Given the description of an element on the screen output the (x, y) to click on. 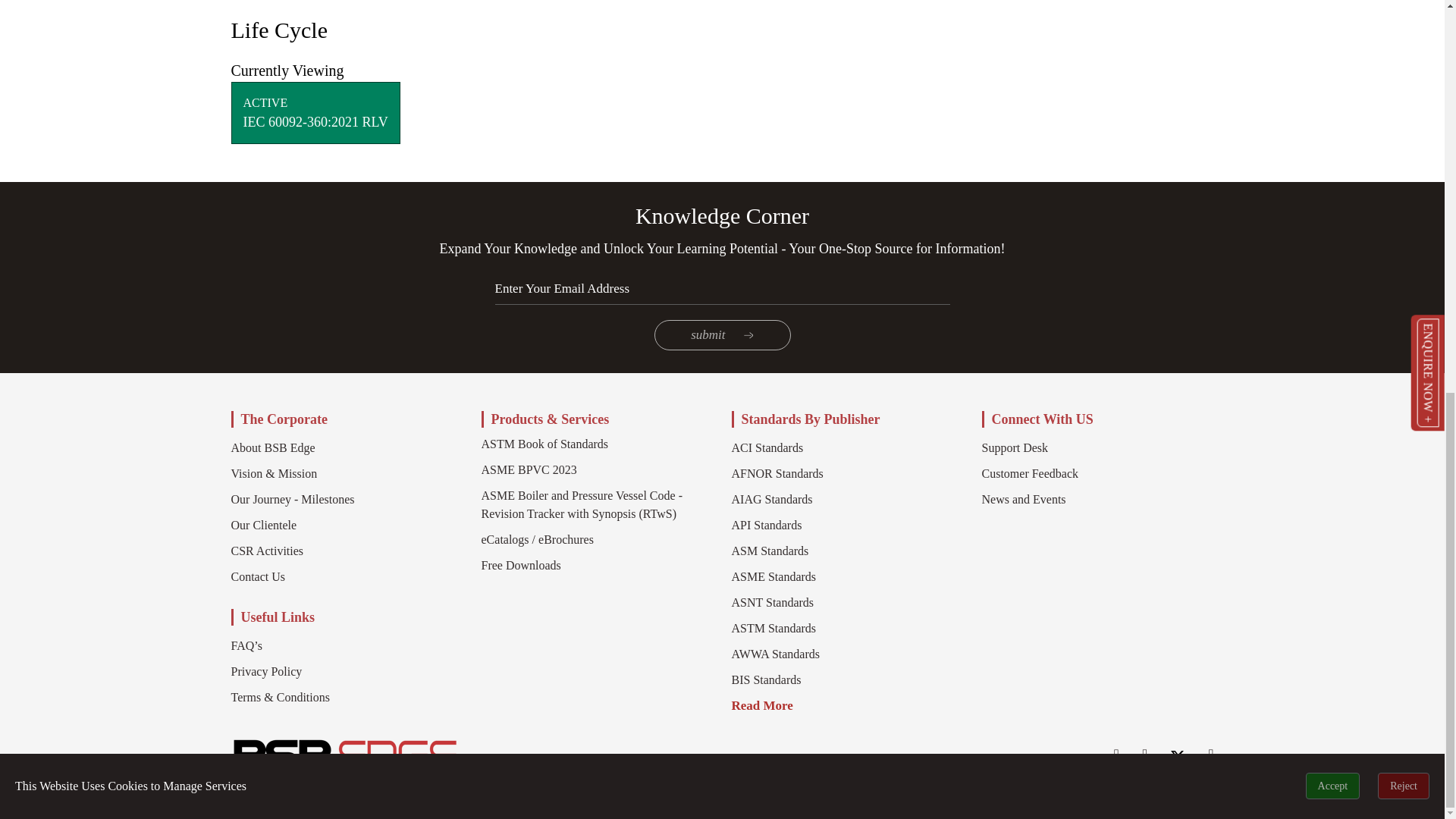
About BSB Edge (272, 447)
submit (721, 335)
